Given the description of an element on the screen output the (x, y) to click on. 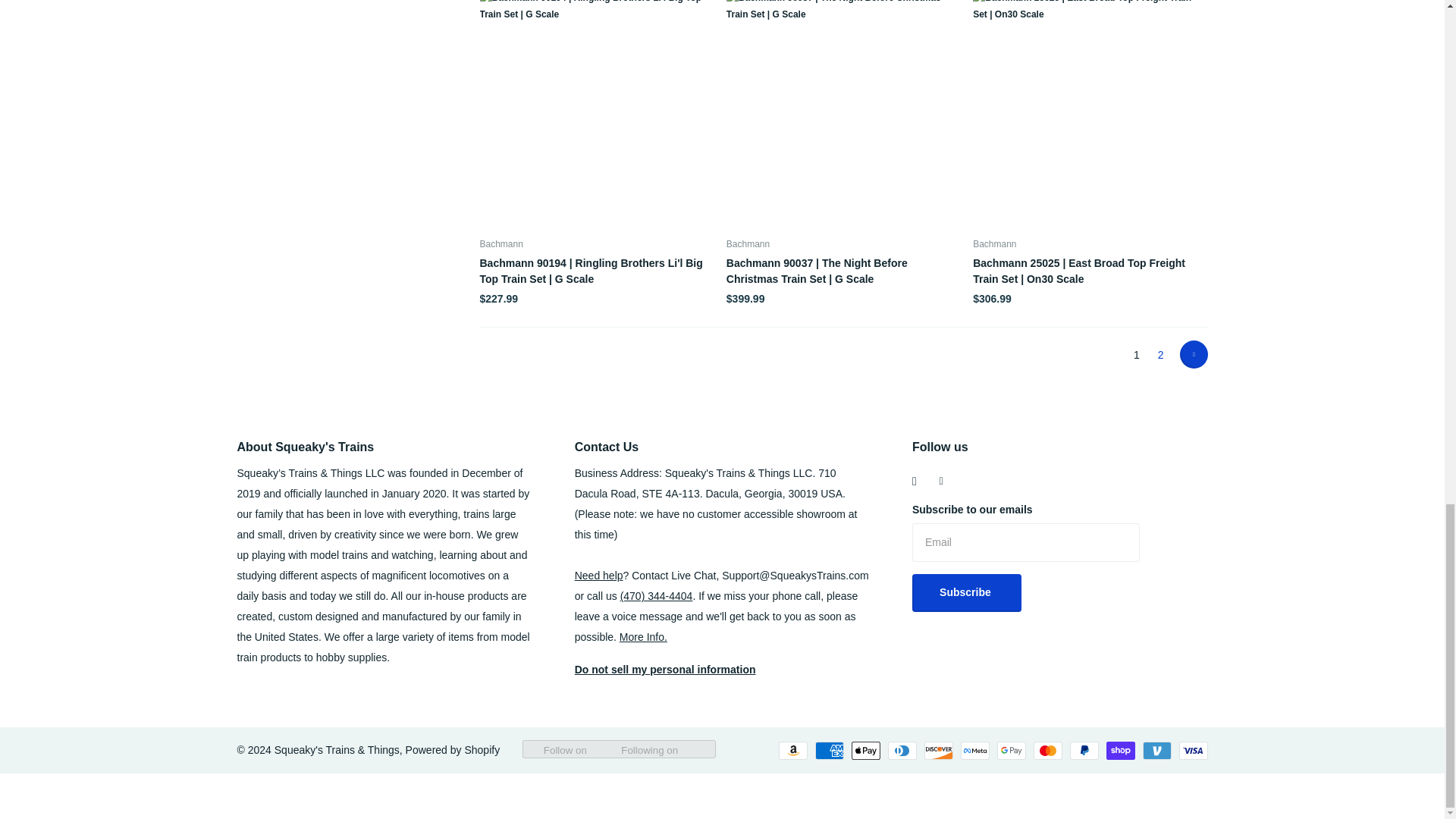
Amazon (791, 751)
Shop Pay (1119, 751)
Contact Us (599, 575)
American Express (828, 751)
Contact Us (656, 595)
Mastercard (1046, 751)
PayPal (1082, 751)
Visa (1192, 751)
Meta Pay (973, 751)
Do not sell my personal information (665, 669)
